Given the description of an element on the screen output the (x, y) to click on. 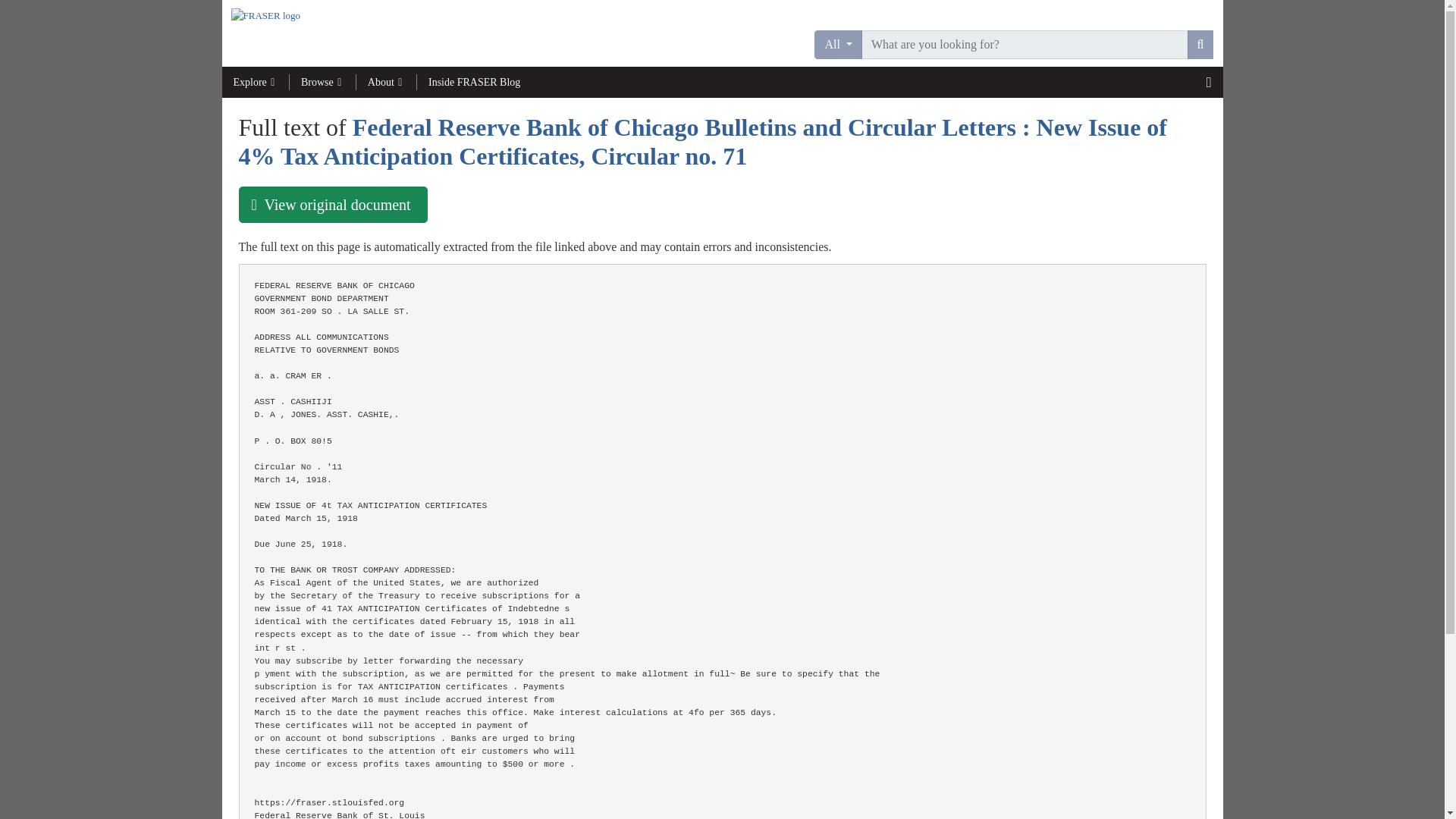
Explore (254, 82)
About (386, 82)
All (837, 44)
Inside FRASER Blog (473, 82)
Browse (322, 82)
View original document (332, 204)
